Given the description of an element on the screen output the (x, y) to click on. 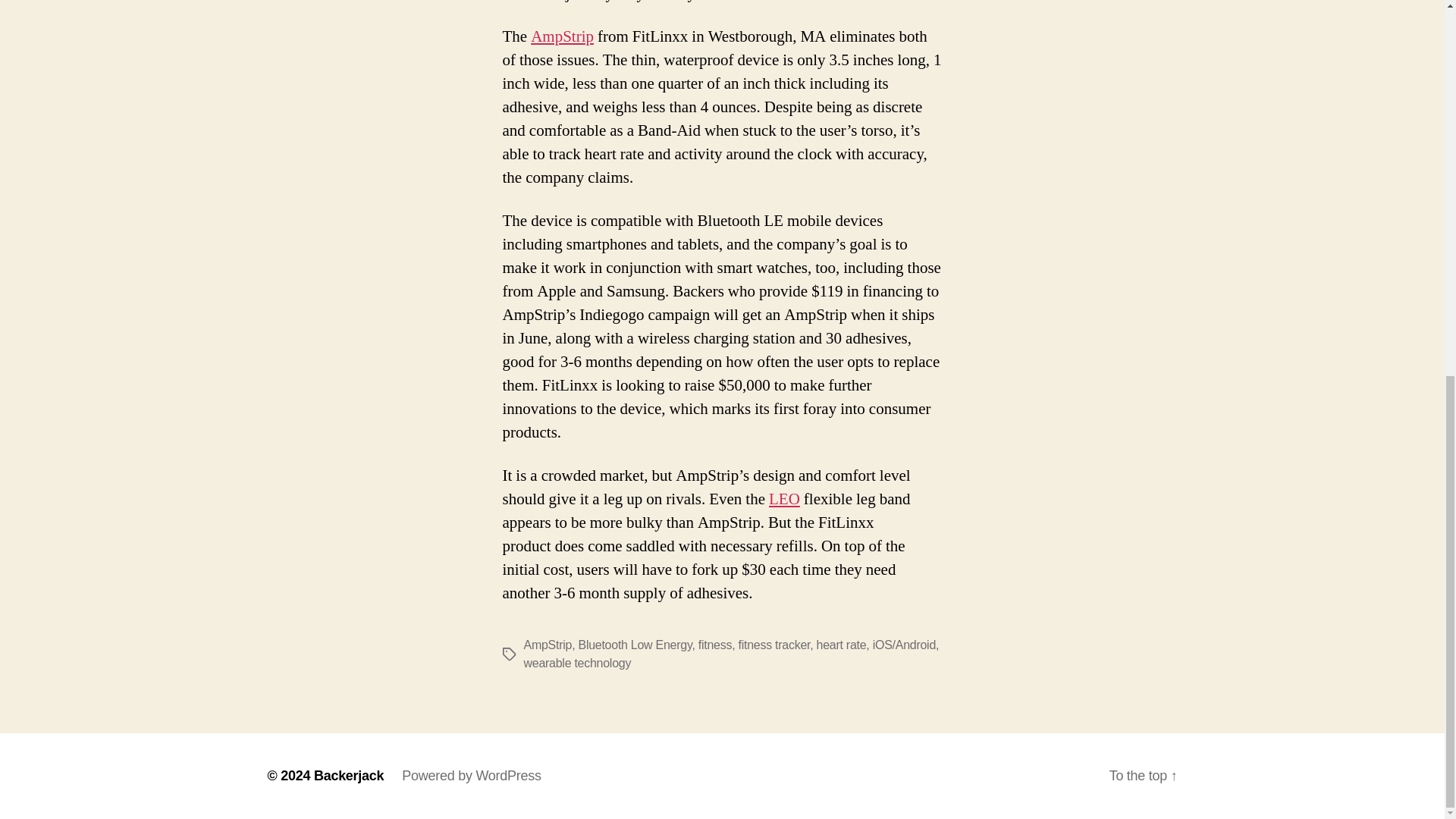
LEO (783, 498)
AmpStrip (547, 644)
fitness tracker (774, 644)
heart rate (841, 644)
Powered by WordPress (470, 775)
Backerjack (349, 775)
Bluetooth Low Energy (634, 644)
fitness (715, 644)
AmpStrip (562, 36)
wearable technology (576, 662)
